Given the description of an element on the screen output the (x, y) to click on. 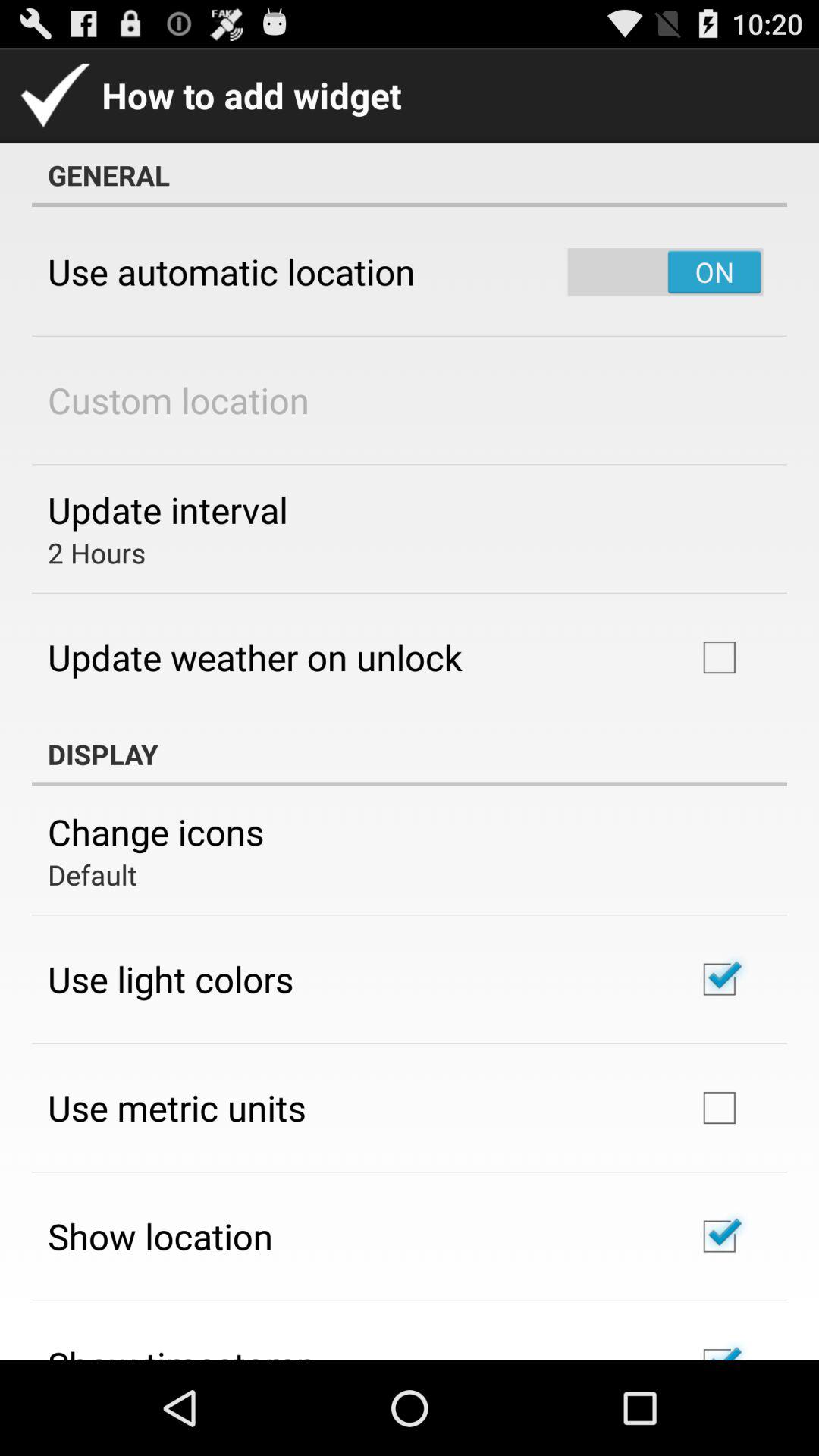
tap the app below general app (665, 271)
